Given the description of an element on the screen output the (x, y) to click on. 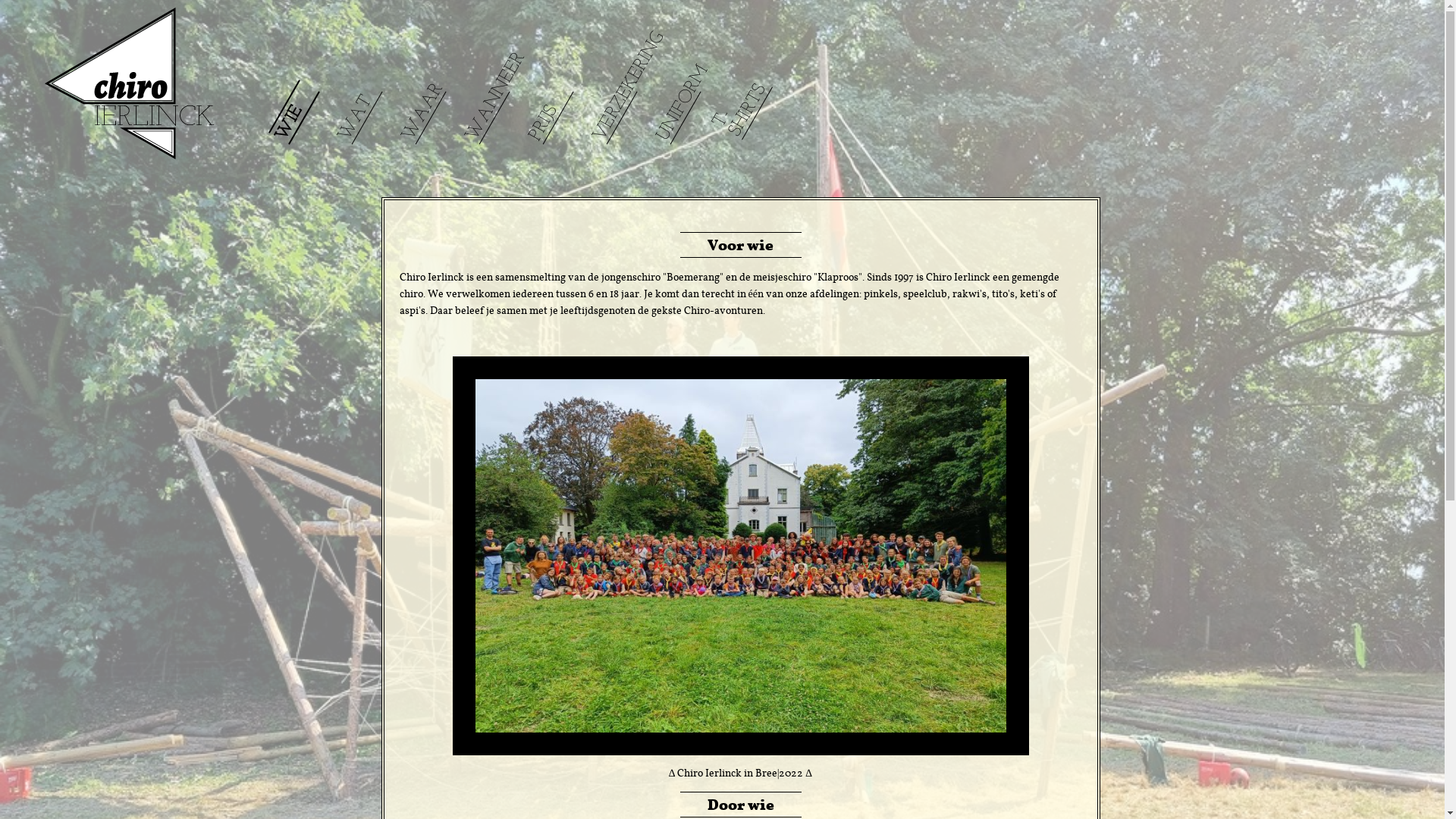
T-SHIRTS Element type: text (738, 99)
UNIFORM Element type: text (696, 71)
WAT Element type: text (359, 101)
PRIJS Element type: text (545, 111)
VERZEKERING Element type: text (651, 37)
WANNEER Element type: text (512, 57)
WAAR Element type: text (430, 89)
